Given the description of an element on the screen output the (x, y) to click on. 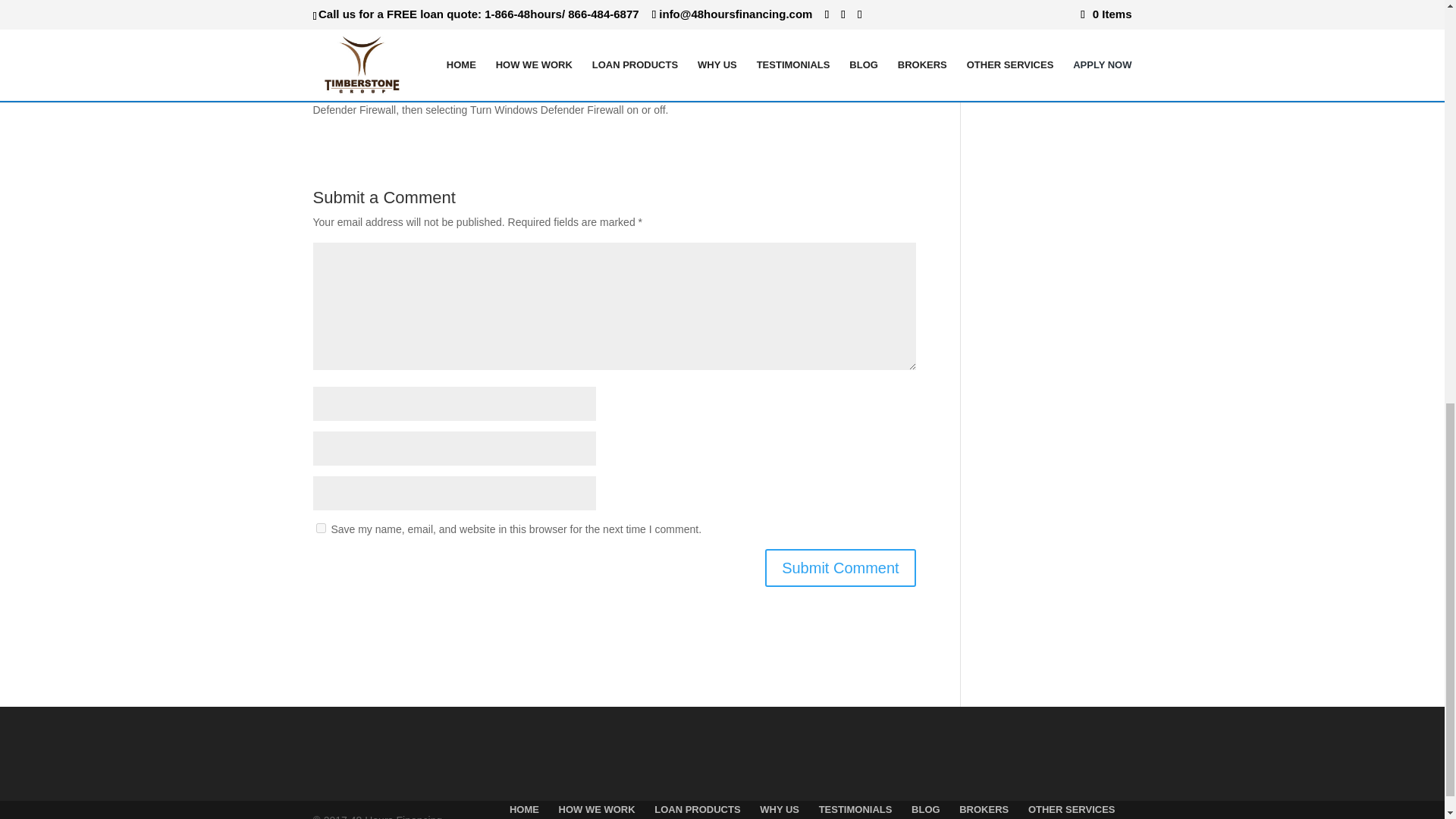
Submit Comment (840, 567)
WHY US (779, 808)
Submit Comment (840, 567)
HOW WE WORK (596, 808)
BROKERS (984, 808)
TESTIMONIALS (855, 808)
LOAN PRODUCTS (696, 808)
HOME (523, 808)
BLOG (925, 808)
yes (319, 528)
